Given the description of an element on the screen output the (x, y) to click on. 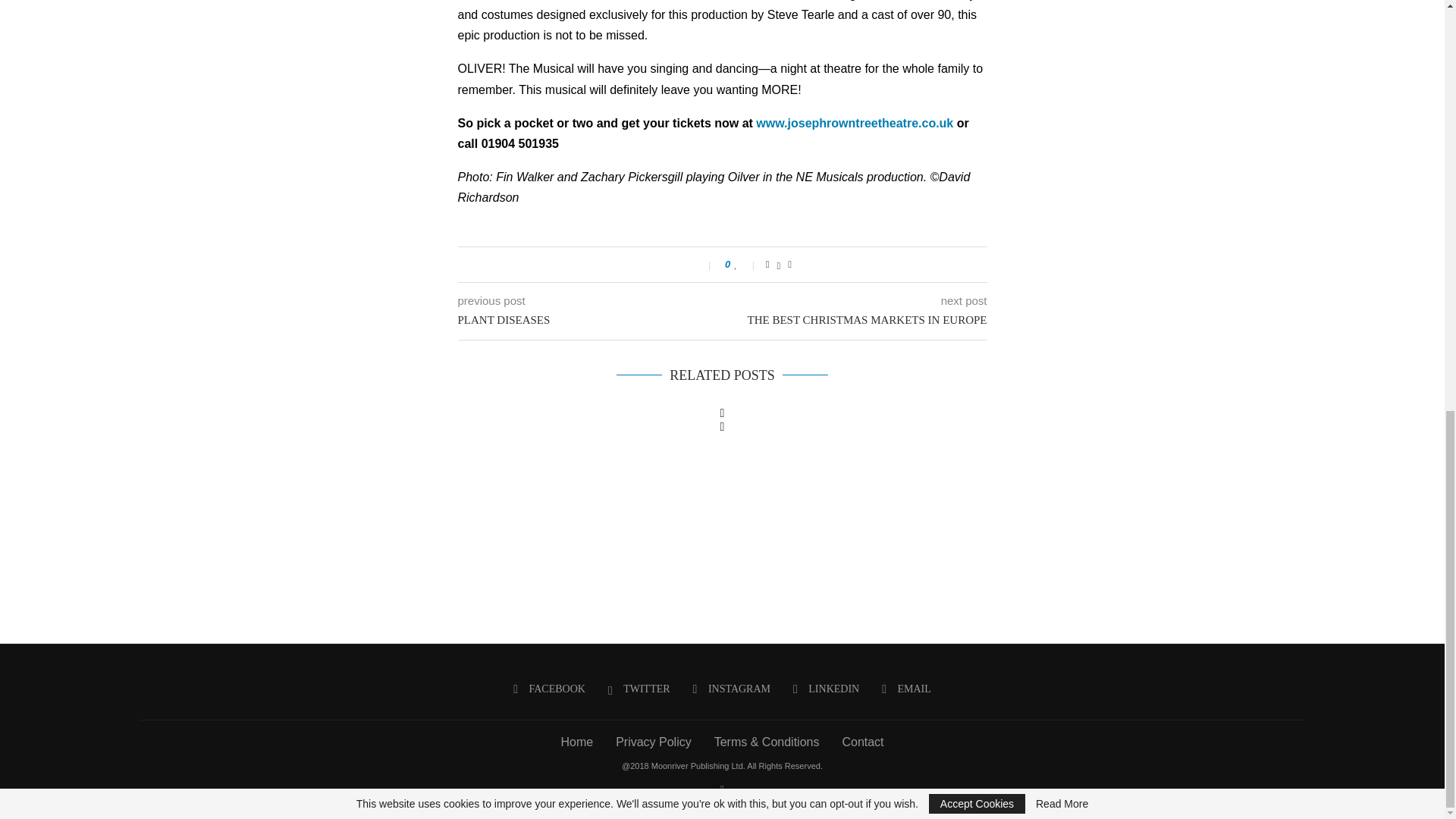
Like (745, 264)
